Given the description of an element on the screen output the (x, y) to click on. 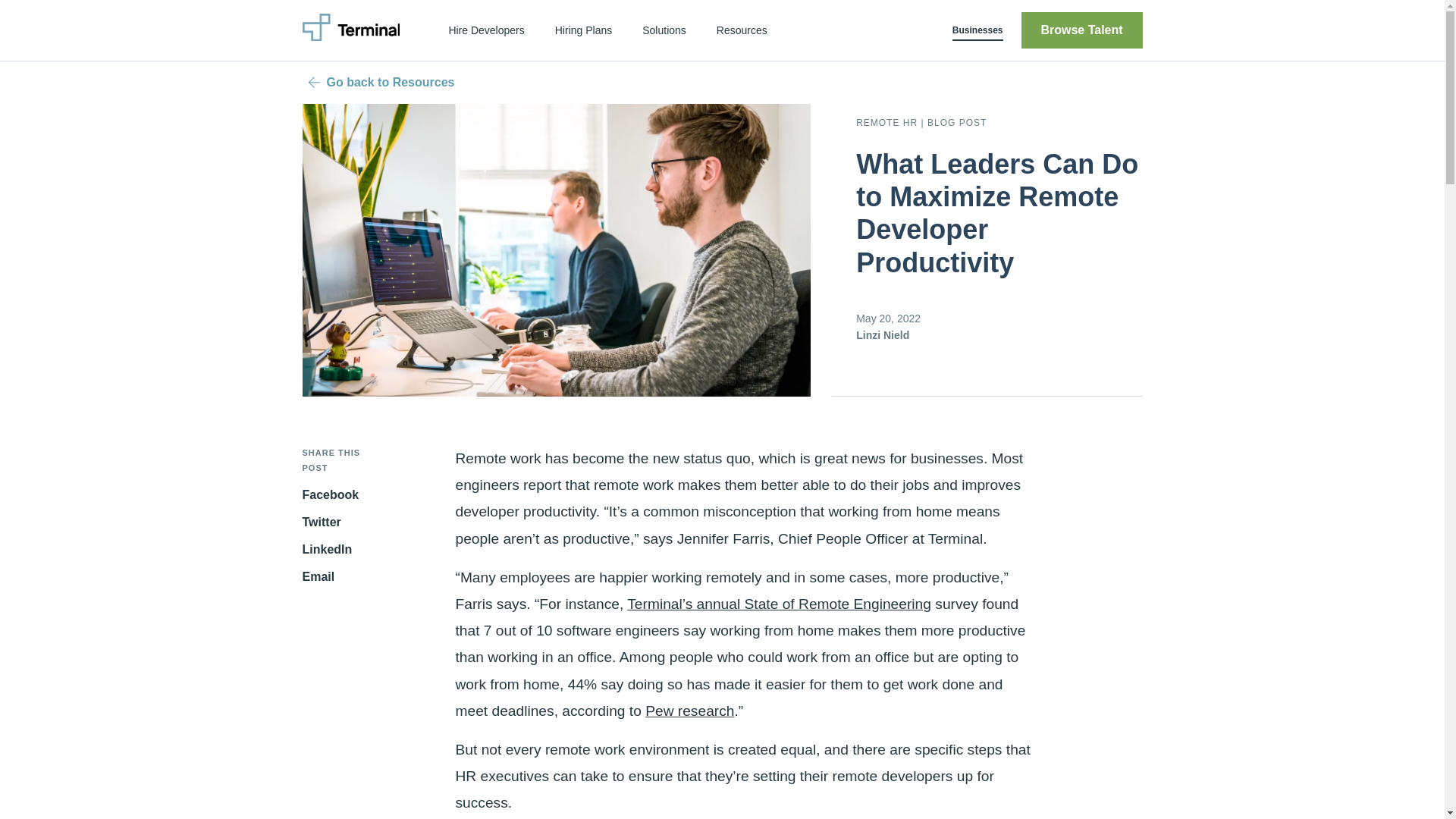
Businesses (977, 29)
Solutions (664, 30)
Browse Talent (1080, 30)
Resources (741, 30)
Hiring Plans (583, 30)
Hire Developers (485, 30)
